Given the description of an element on the screen output the (x, y) to click on. 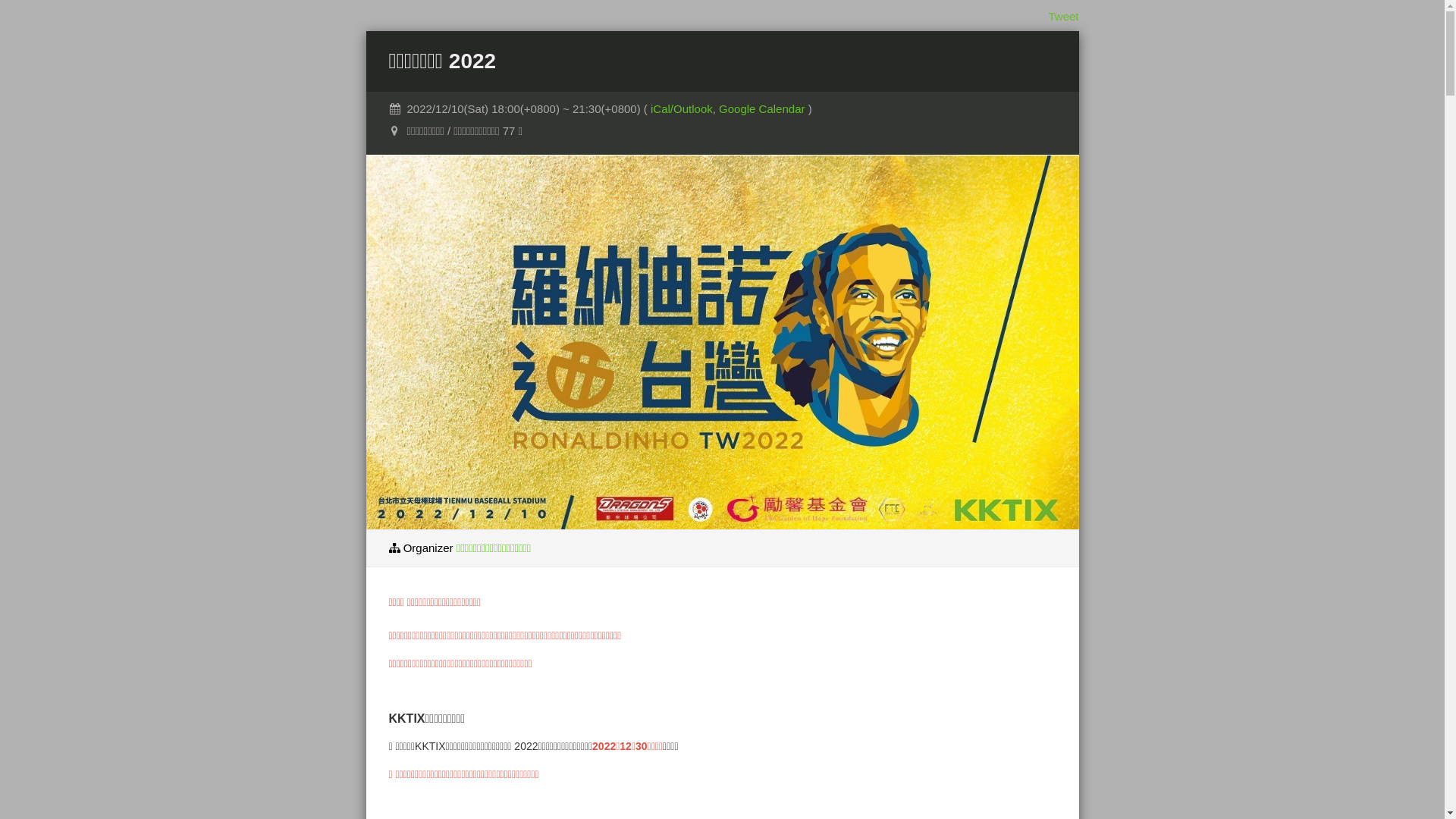
iCal/Outlook Element type: text (681, 108)
Tweet Element type: text (1063, 15)
Google Calendar Element type: text (763, 108)
